Given the description of an element on the screen output the (x, y) to click on. 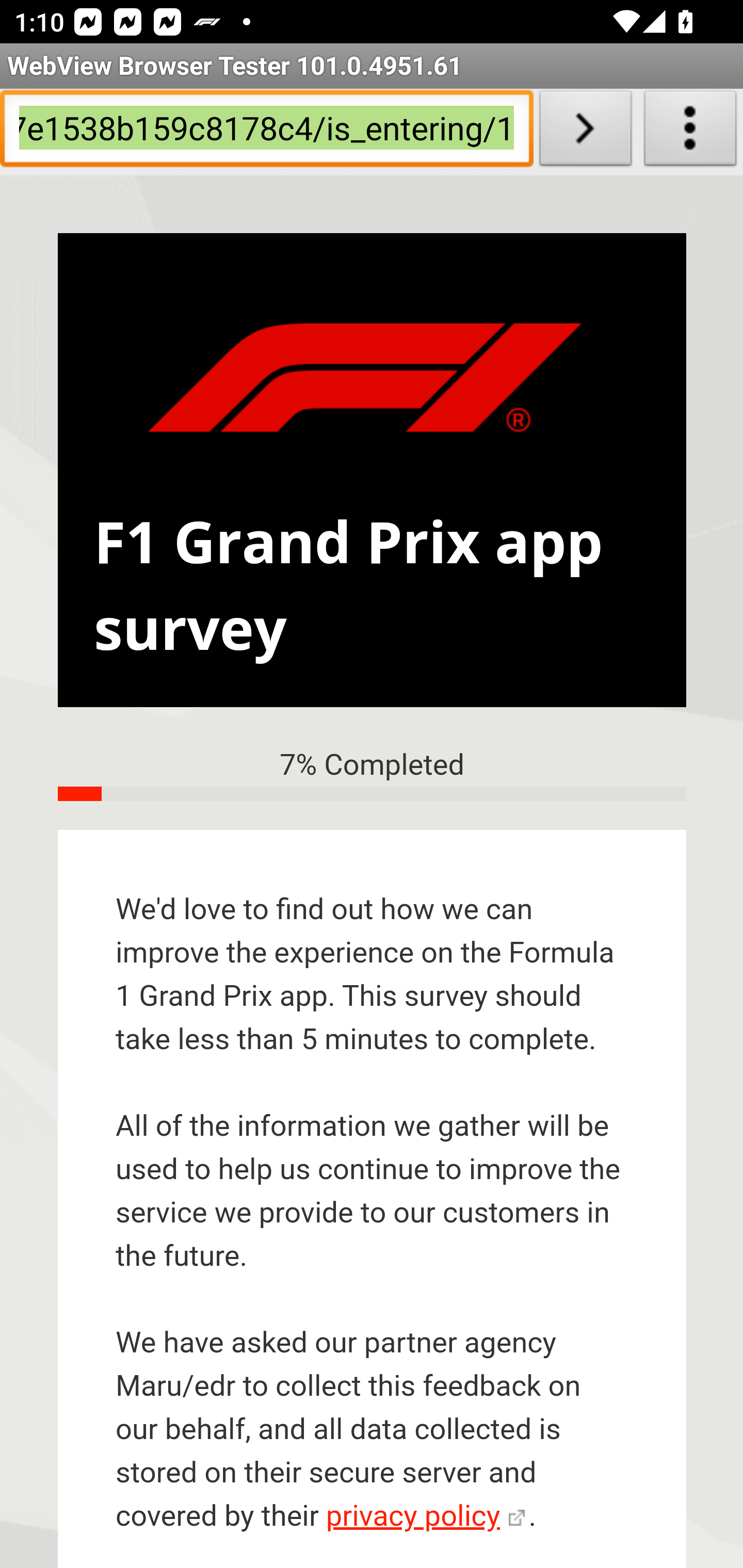
Load URL (585, 132)
About WebView (690, 132)
privacy policy  privacy policy    (425, 1517)
